Given the description of an element on the screen output the (x, y) to click on. 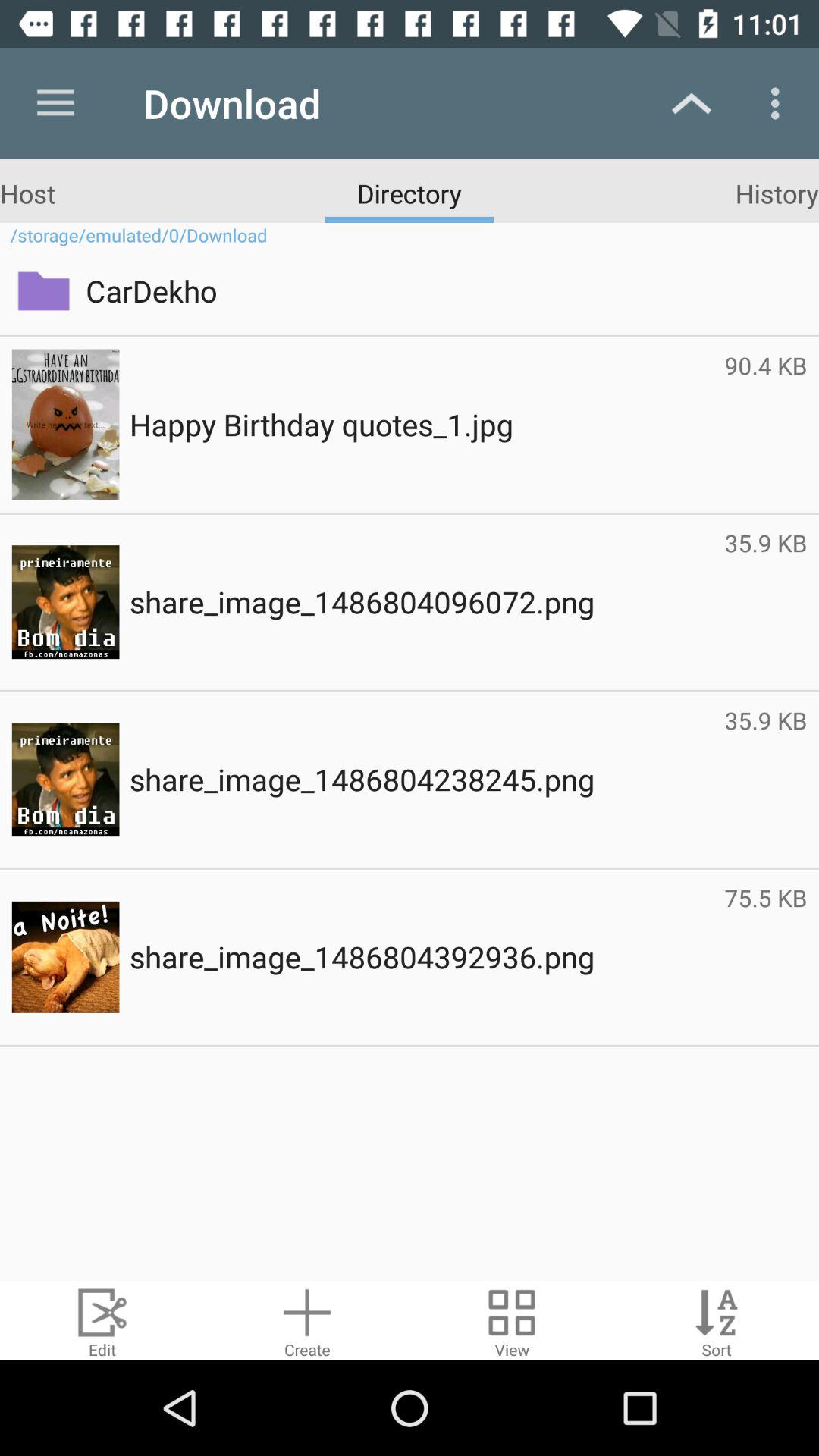
create new compressed file (306, 1320)
